Given the description of an element on the screen output the (x, y) to click on. 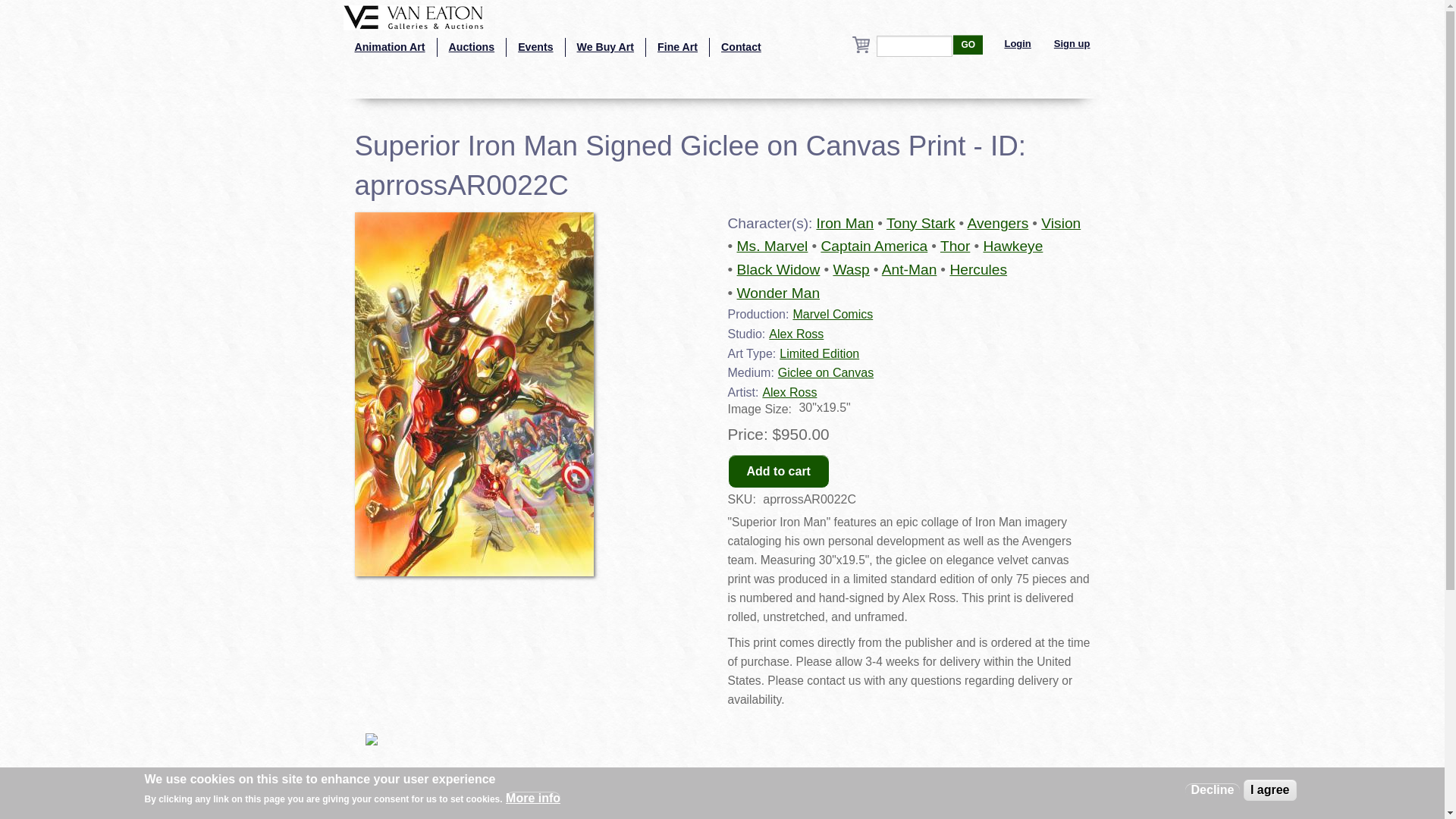
Limited Edition (818, 353)
Giclee on Canvas (825, 372)
Black Widow (778, 269)
Animation Art (388, 46)
Alex Ross (788, 391)
Avengers (998, 222)
Vision (1060, 222)
Hawkeye (1012, 245)
We Buy Art (606, 46)
Auctions (472, 46)
Add to cart (778, 471)
Ant-Man (909, 269)
GO (968, 44)
Login (1017, 43)
Alex Ross (796, 333)
